Given the description of an element on the screen output the (x, y) to click on. 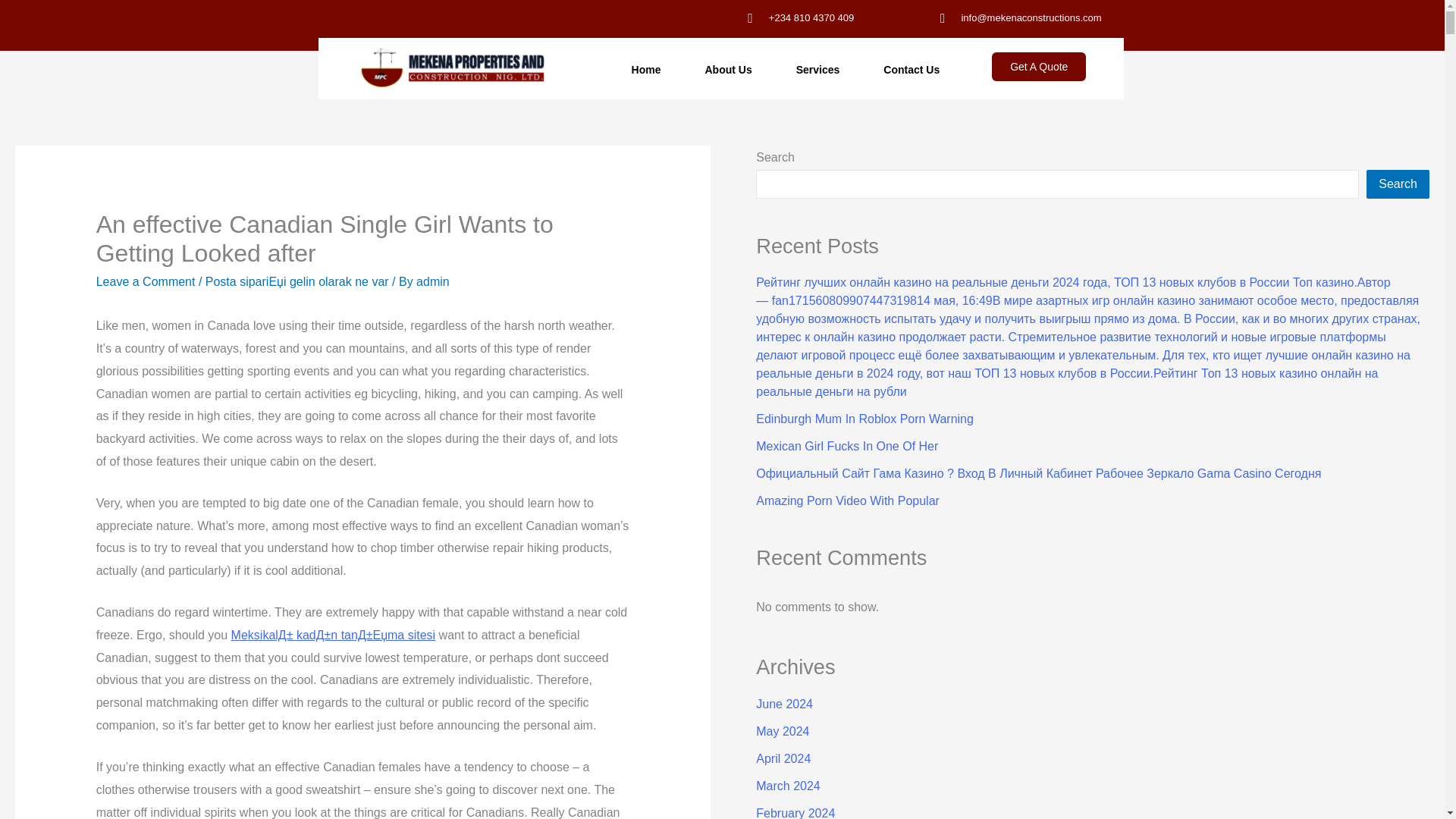
March 2024 (788, 785)
Leave a Comment (145, 281)
June 2024 (783, 703)
View all posts by admin (432, 281)
Home (646, 69)
February 2024 (794, 812)
Search (1398, 184)
Amazing Porn Video With Popular (847, 500)
About Us (727, 69)
April 2024 (782, 758)
May 2024 (782, 730)
Mexican Girl Fucks In One Of Her (846, 445)
Get A Quote (1038, 66)
Contact Us (910, 69)
Services (817, 69)
